Given the description of an element on the screen output the (x, y) to click on. 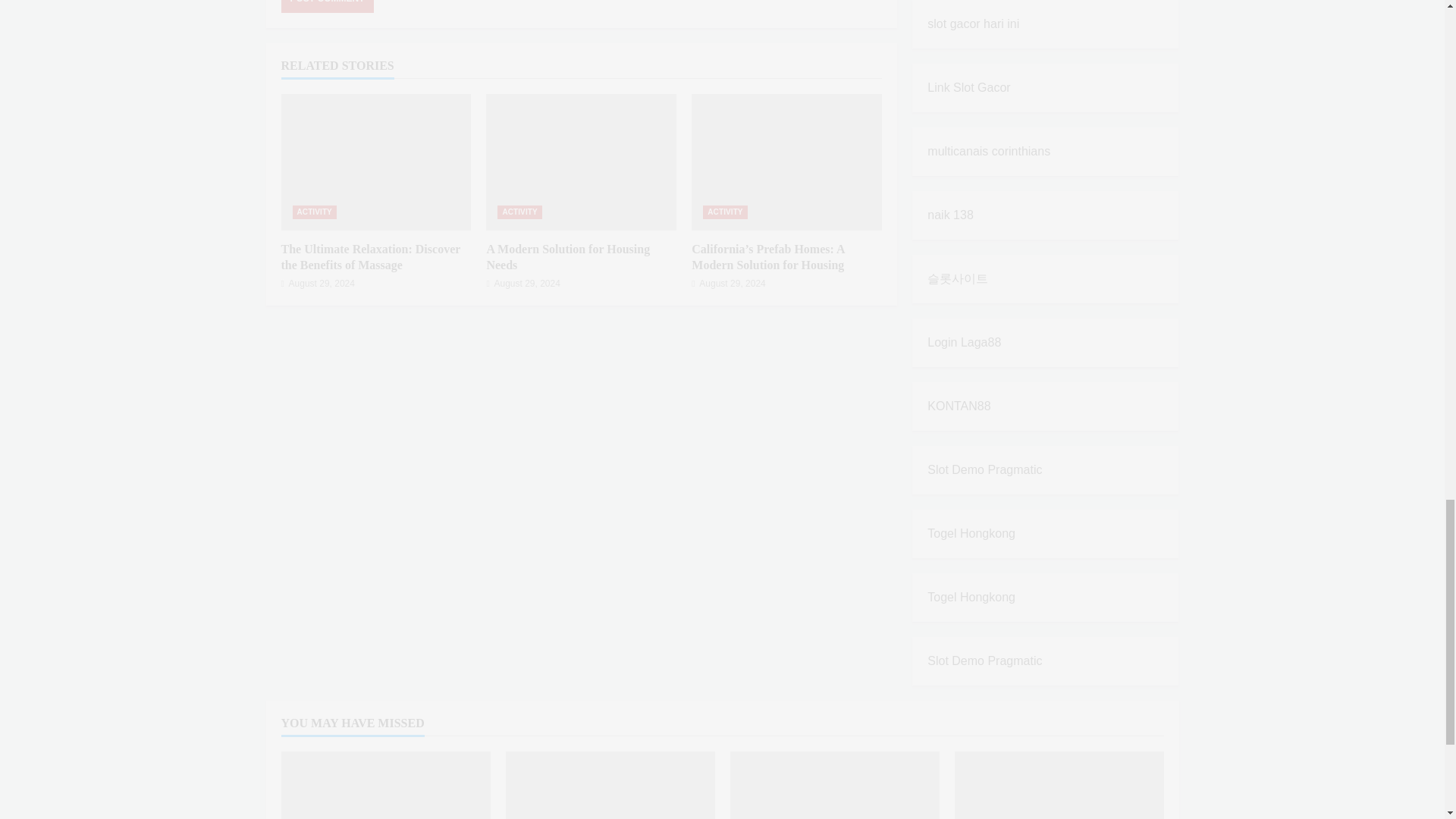
A Modern Solution for Housing Needs (581, 162)
ACTIVITY (519, 212)
The Ultimate Relaxation: Discover the Benefits of Massage (375, 162)
ACTIVITY (314, 212)
A Modern Solution for Housing Needs (567, 256)
ACTIVITY (724, 212)
Post Comment (326, 6)
Post Comment (326, 6)
The Ultimate Relaxation: Discover the Benefits of Massage (370, 256)
